Given the description of an element on the screen output the (x, y) to click on. 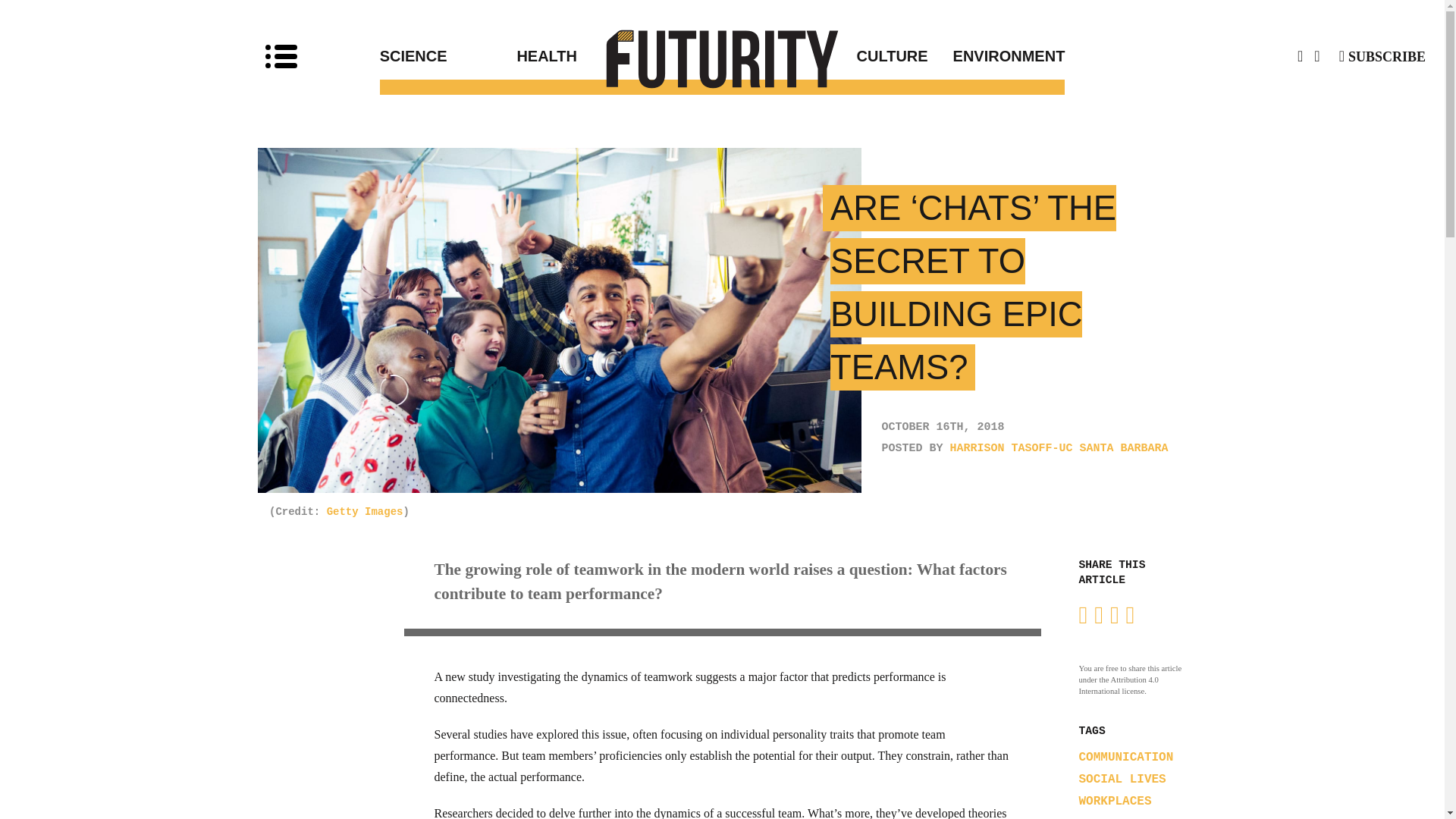
HEALTH (619, 55)
COMMUNICATION (1125, 757)
Environment (996, 55)
WORKPLACES (1114, 801)
Research news from top universities (722, 58)
SUBSCRIBE (1382, 56)
Science (448, 55)
CULTURE (824, 55)
SOCIAL LIVES (1122, 779)
Getty Images (364, 511)
Health (619, 55)
HARRISON TASOFF-UC SANTA BARBARA (1059, 448)
ENVIRONMENT (996, 55)
Culture (824, 55)
SCIENCE (448, 55)
